Given the description of an element on the screen output the (x, y) to click on. 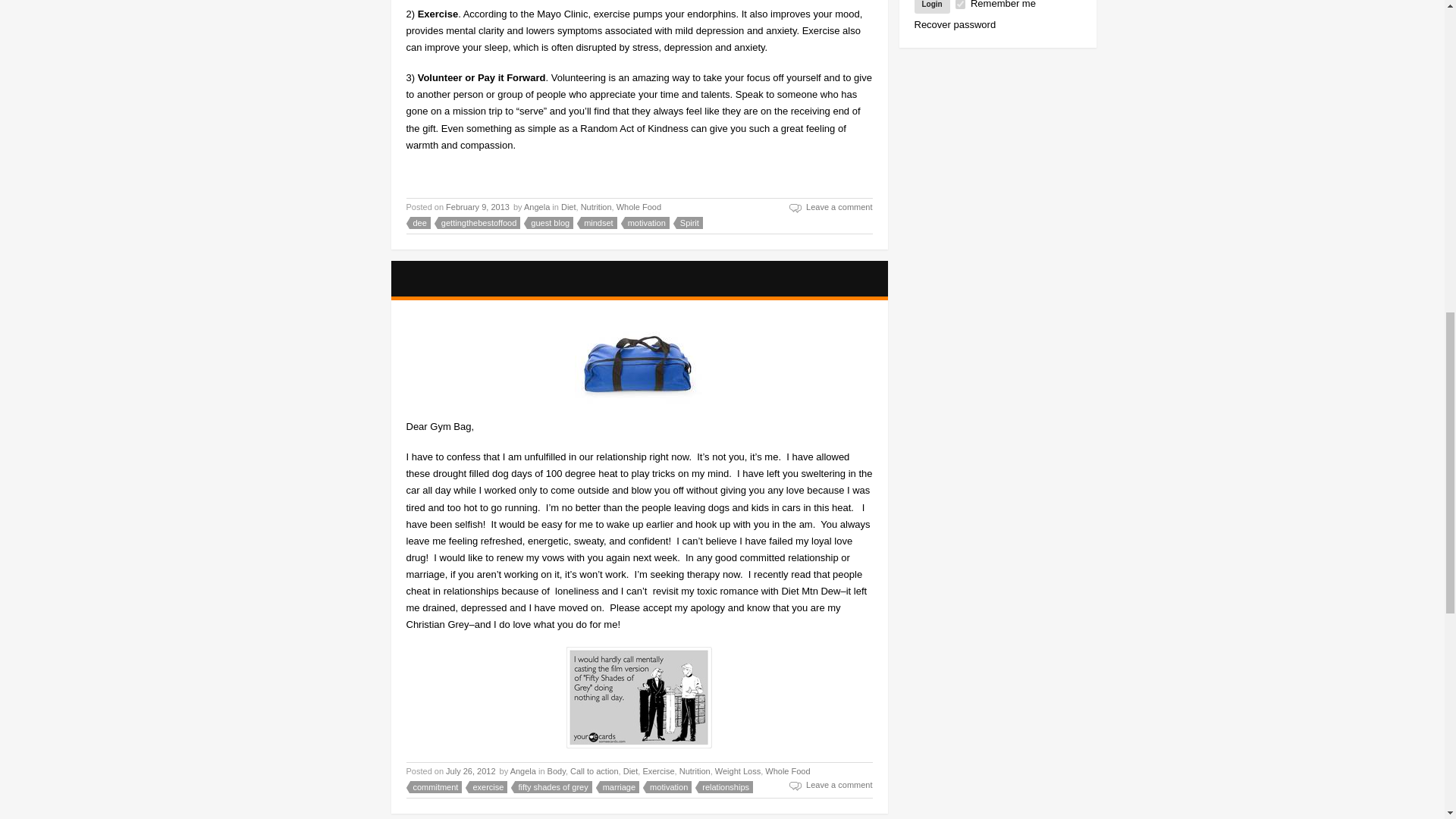
View all posts by Angela (523, 770)
February 9, 2013 (478, 206)
Nutrition (595, 206)
View all posts by Angela (537, 206)
Read Fifty Shades of Exercise (486, 278)
Leave a comment (830, 207)
3:29 pm (470, 770)
Diet (568, 206)
k1222365 (639, 361)
Whole Food (638, 206)
7:33 pm (478, 206)
Angela (537, 206)
Login (932, 6)
